Given the description of an element on the screen output the (x, y) to click on. 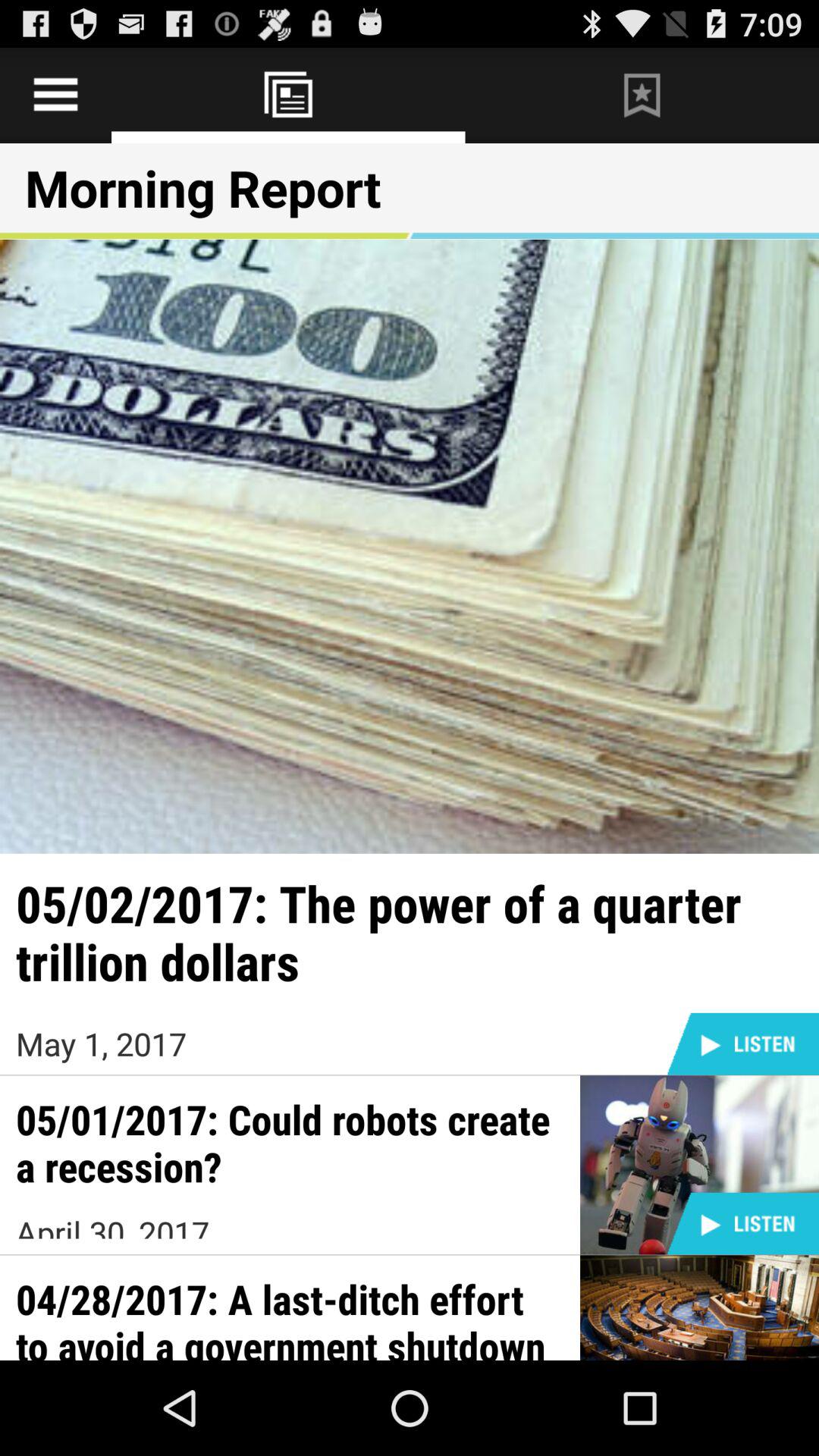
view pages (55, 95)
